Given the description of an element on the screen output the (x, y) to click on. 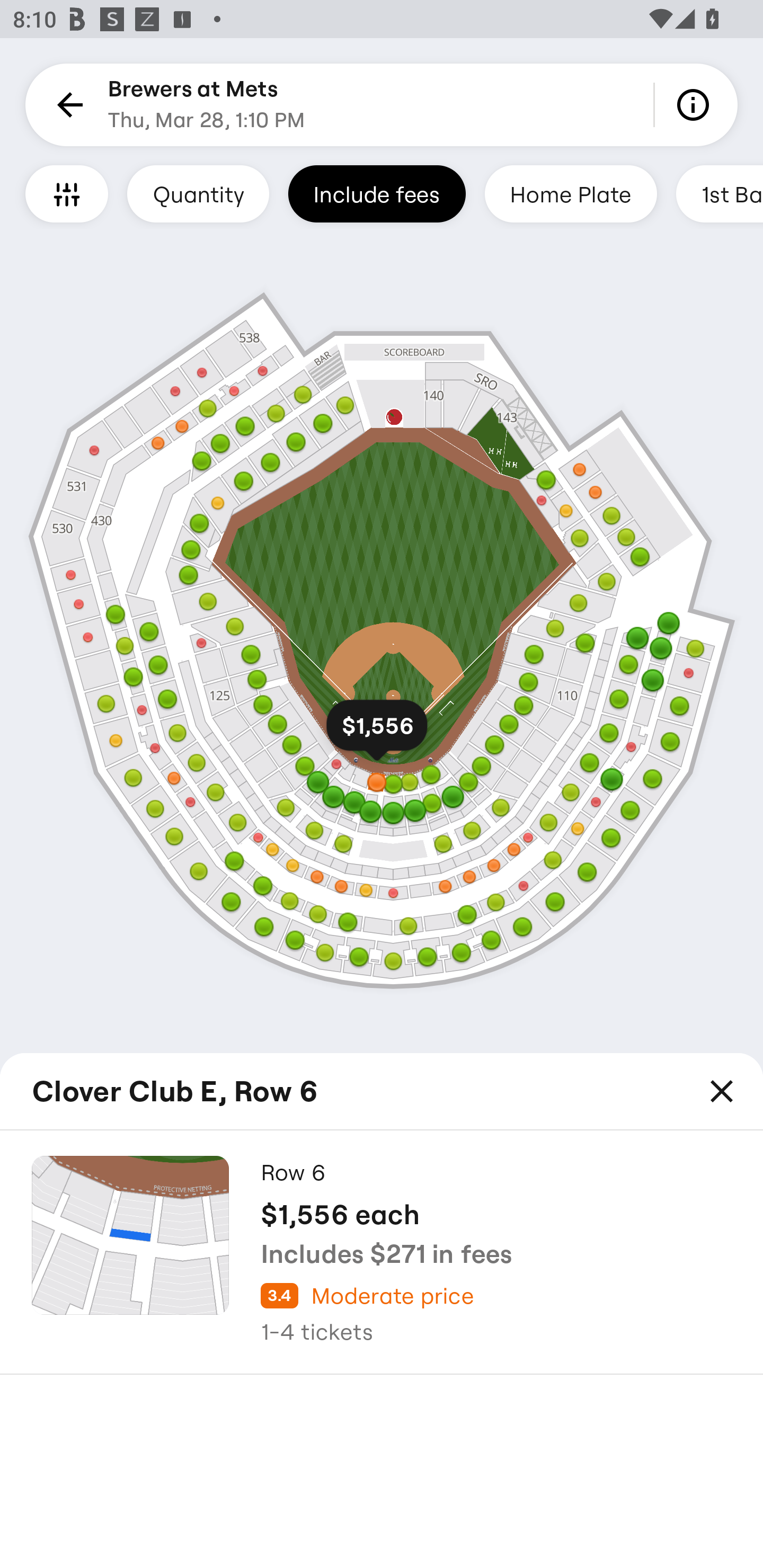
Back (66, 104)
Brewers at Mets Thu, Mar 28, 1:10 PM (206, 104)
Info (695, 104)
Filters and Accessible Seating (66, 193)
Quantity (198, 193)
Include fees (376, 193)
Home Plate (570, 193)
$1,556 (376, 732)
Close (721, 1090)
